Given the description of an element on the screen output the (x, y) to click on. 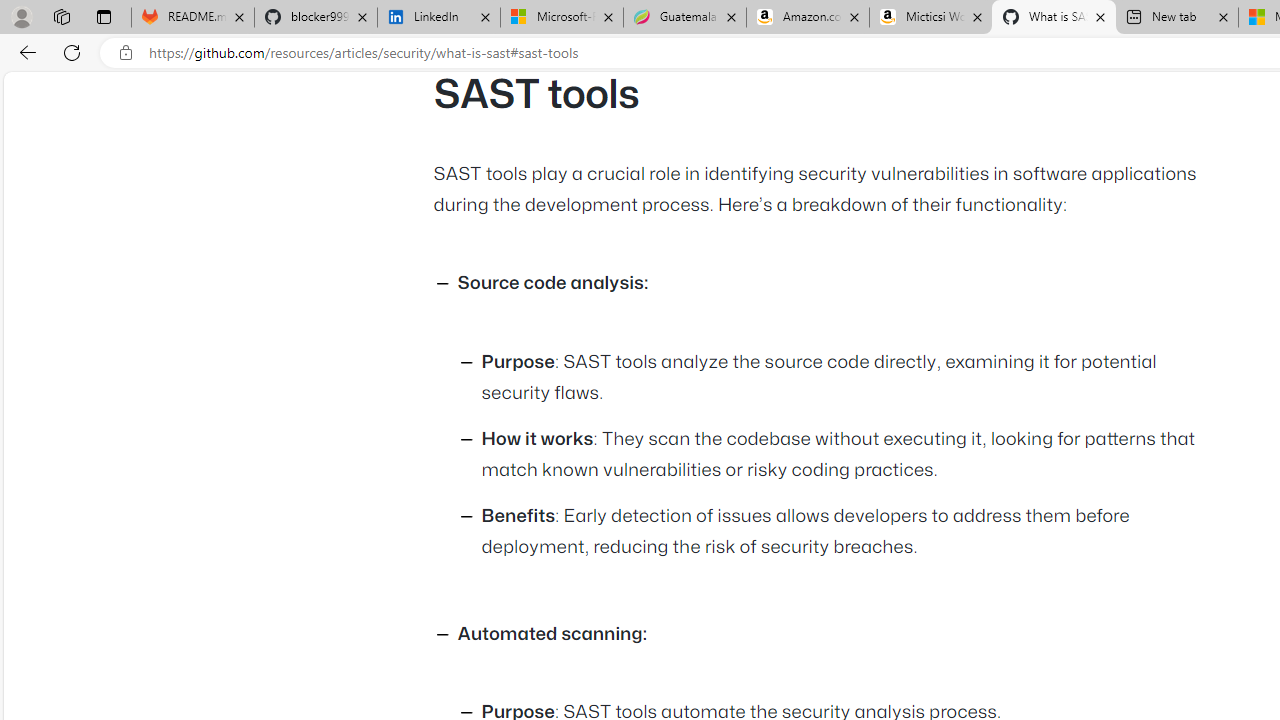
LinkedIn (438, 17)
Microsoft-Report a Concern to Bing (561, 17)
